Given the description of an element on the screen output the (x, y) to click on. 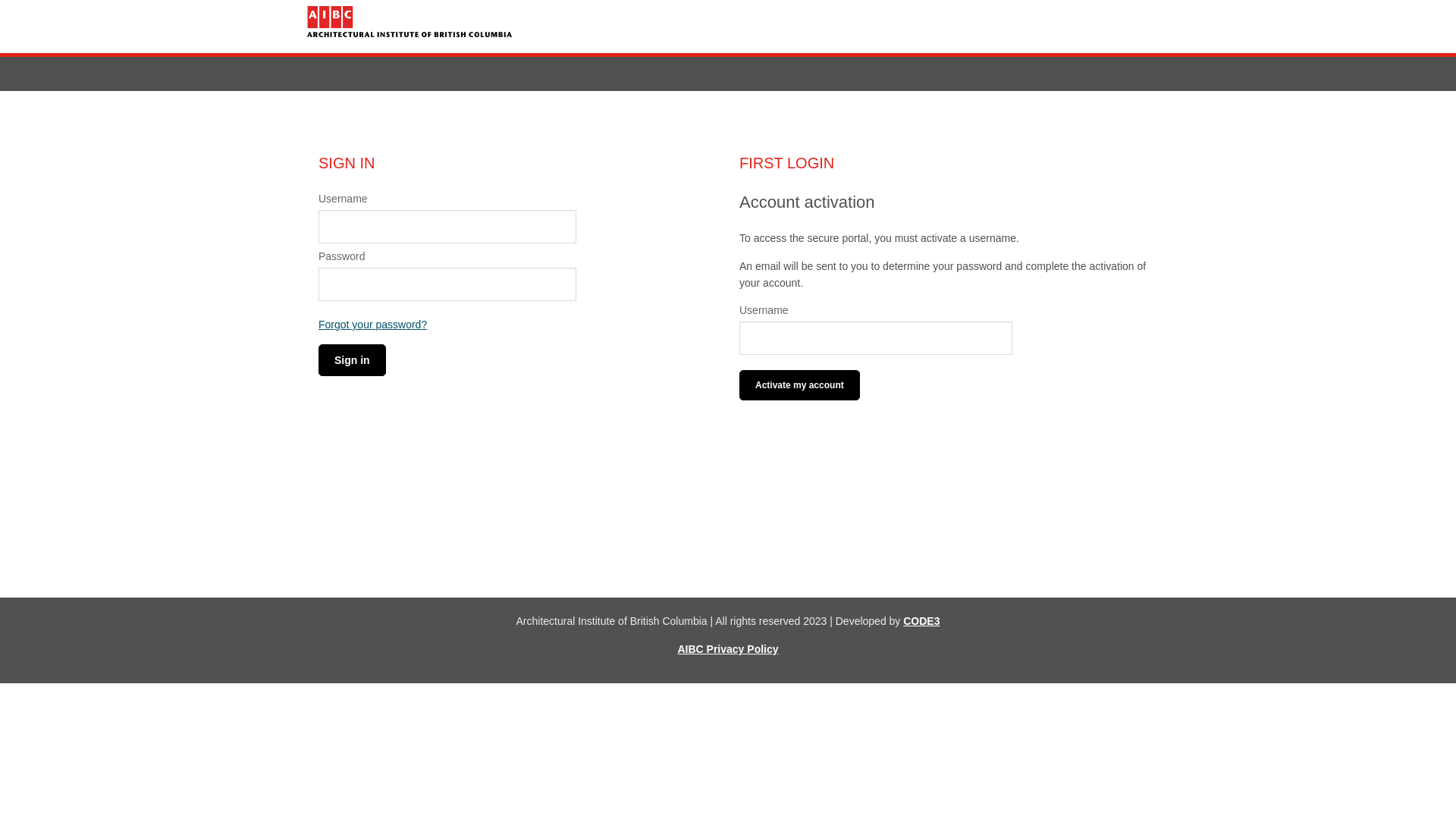
Sign in Element type: text (351, 360)
Activate my account Element type: text (799, 385)
Forgot your password? Element type: text (372, 324)
AIBC Privacy Policy Element type: text (727, 649)
CODE3 Element type: text (921, 621)
